Given the description of an element on the screen output the (x, y) to click on. 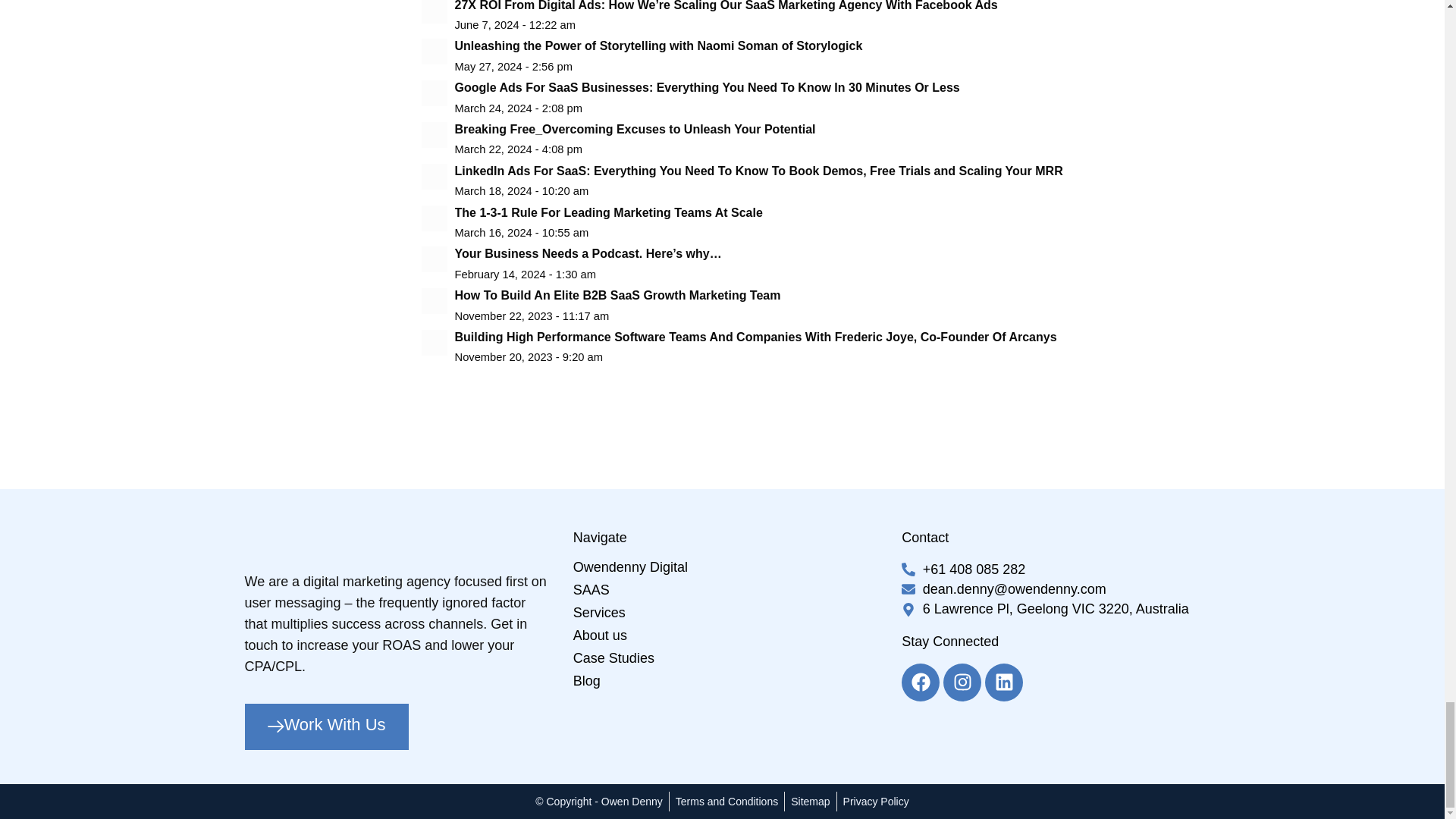
How To Build An Elite B2B SaaS Growth Marketing Team (743, 304)
The 1-3-1 Rule For Leading Marketing Teams At Scale (743, 222)
